Given the description of an element on the screen output the (x, y) to click on. 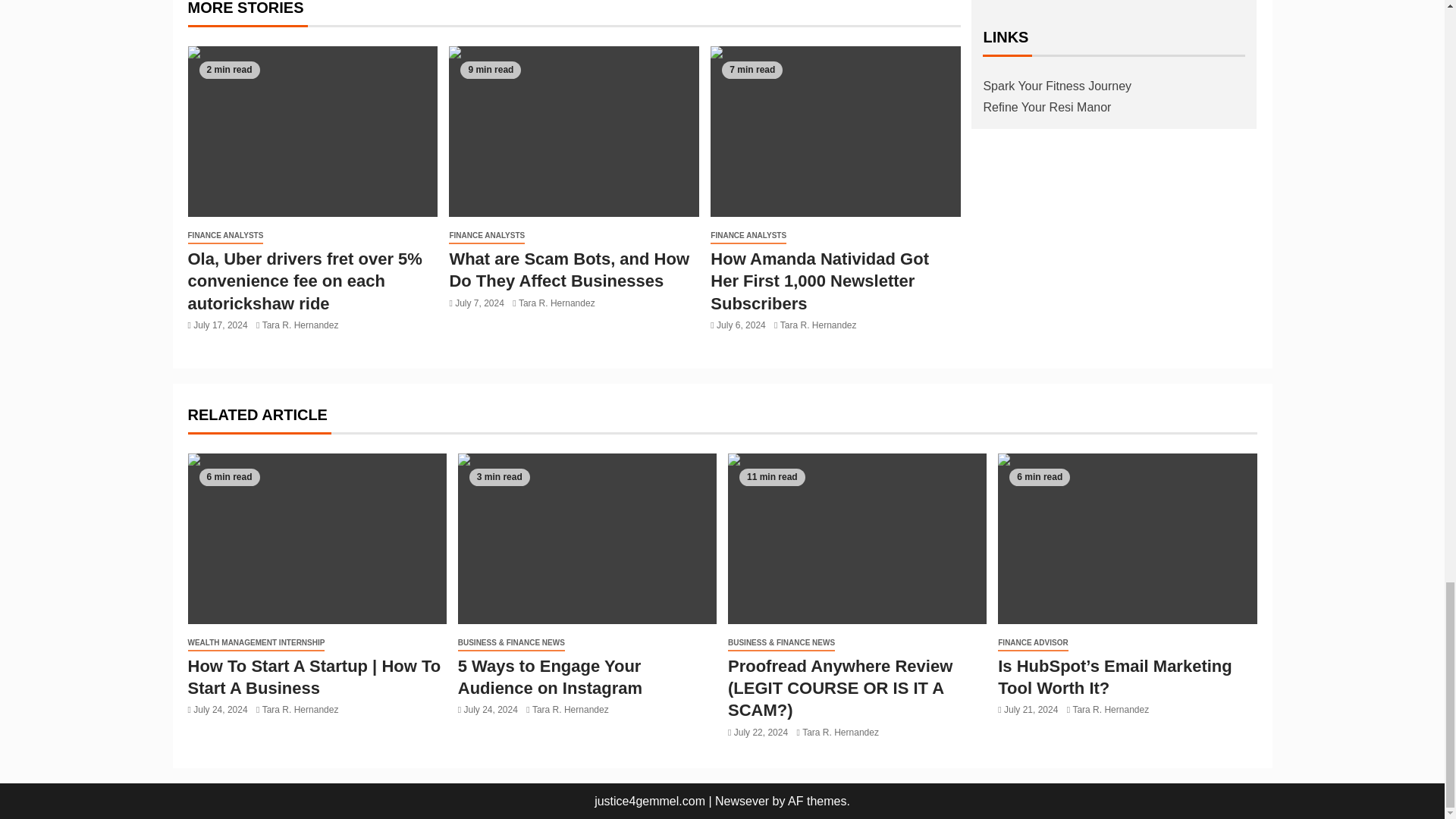
Seedbacklink (1024, 1)
What are Scam Bots, and How Do They Affect Businesses (573, 131)
